Given the description of an element on the screen output the (x, y) to click on. 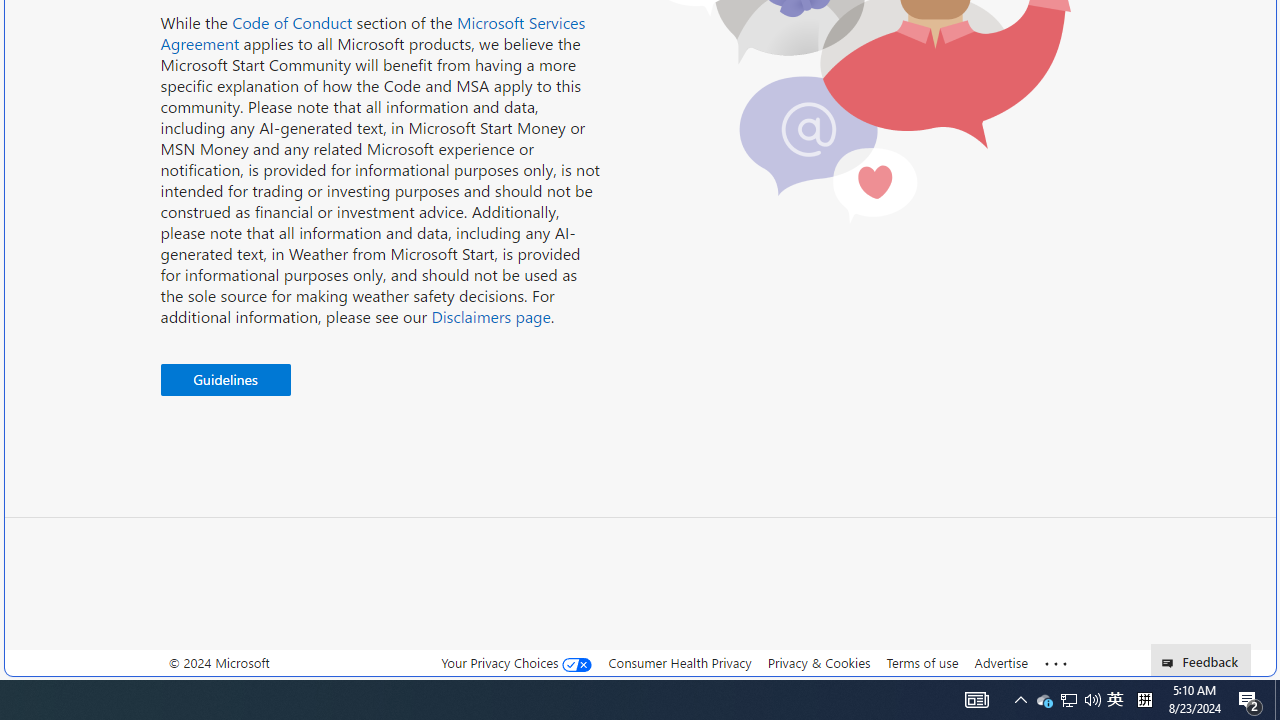
Terms of use (921, 662)
Privacy & Cookies (818, 662)
Microsoft Services Agreement (373, 33)
Consumer Health Privacy (680, 663)
Your Privacy Choices (516, 662)
See more (1055, 664)
Feedback (1200, 659)
Disclaimers page (490, 316)
Consumer Health Privacy (680, 662)
Your Privacy Choices (516, 663)
Guidelines  (225, 380)
Advertise (1000, 662)
Privacy & Cookies (818, 663)
Terms of use (921, 663)
